Given the description of an element on the screen output the (x, y) to click on. 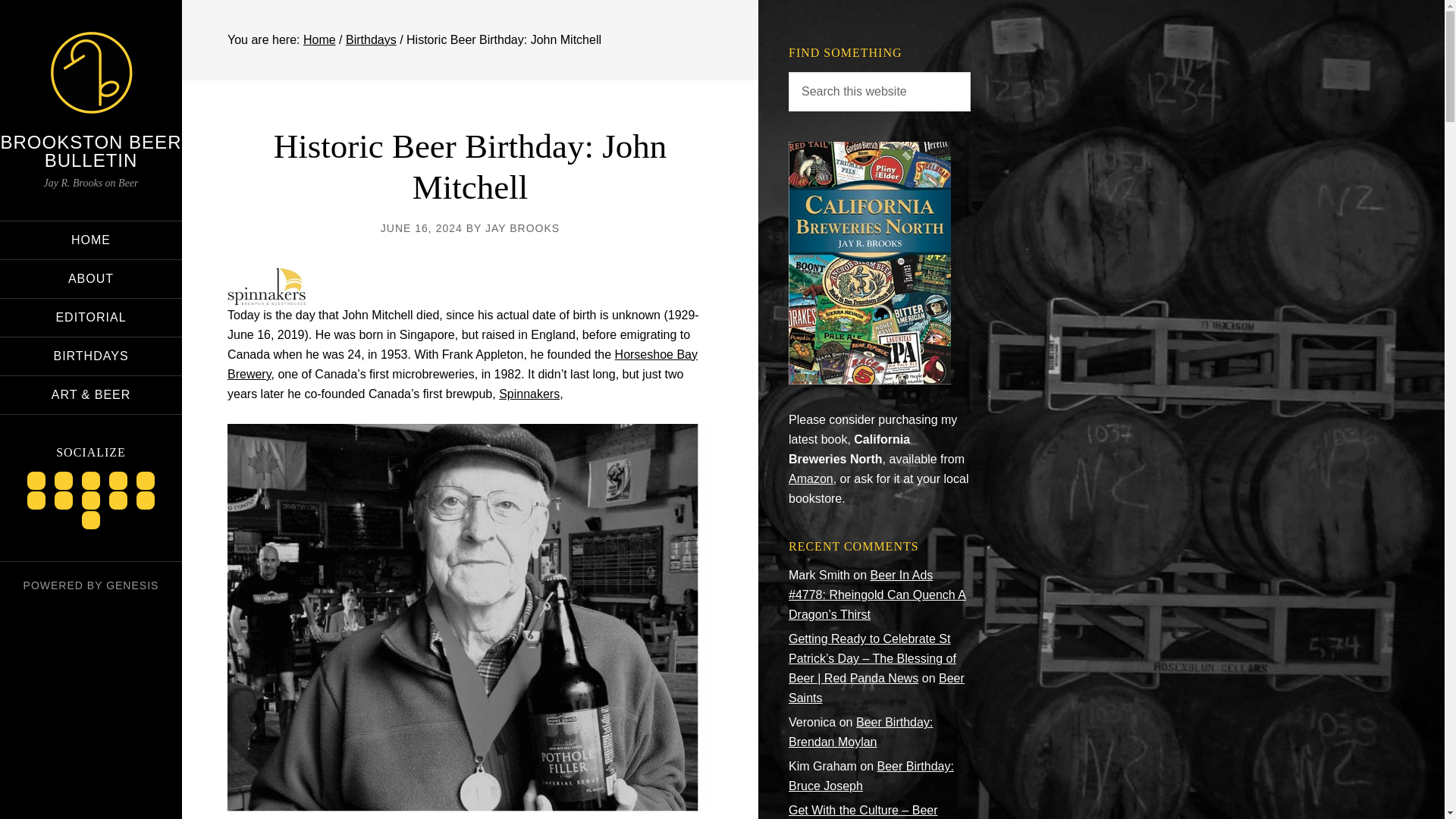
HOME (91, 240)
ABOUT (91, 279)
Northern California Breweries (869, 379)
EDITORIAL (91, 317)
BIRTHDAYS (91, 356)
Amazon (810, 478)
Horseshoe Bay Brewery (462, 364)
